Given the description of an element on the screen output the (x, y) to click on. 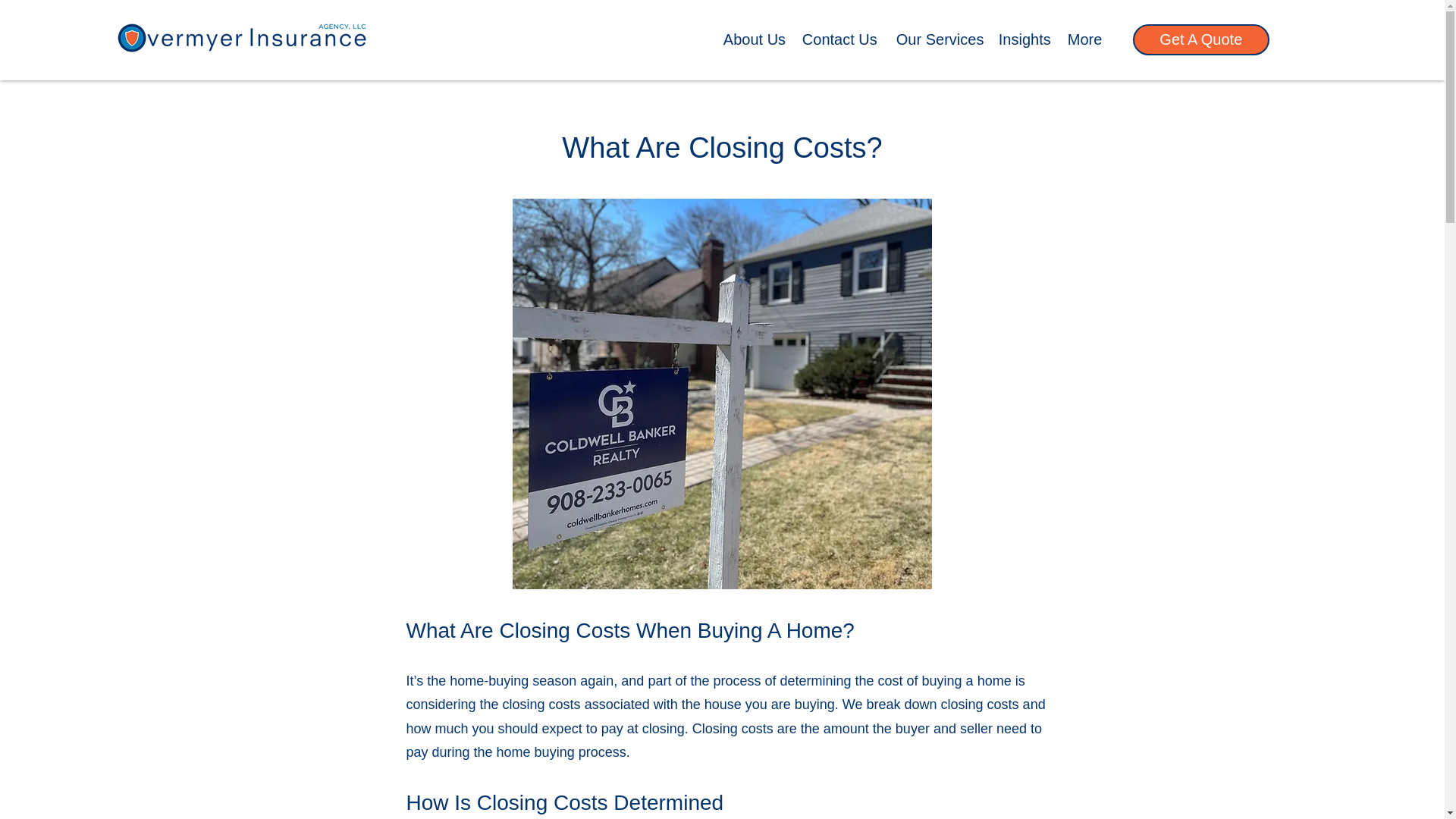
Insights (1025, 38)
About Us (755, 38)
Contact Us (841, 38)
Get A Quote (1200, 39)
Our Services (939, 38)
Ovemyer Insurance Agency - 2 S Ave E, Cranford NJ 07016 (240, 44)
